Given the description of an element on the screen output the (x, y) to click on. 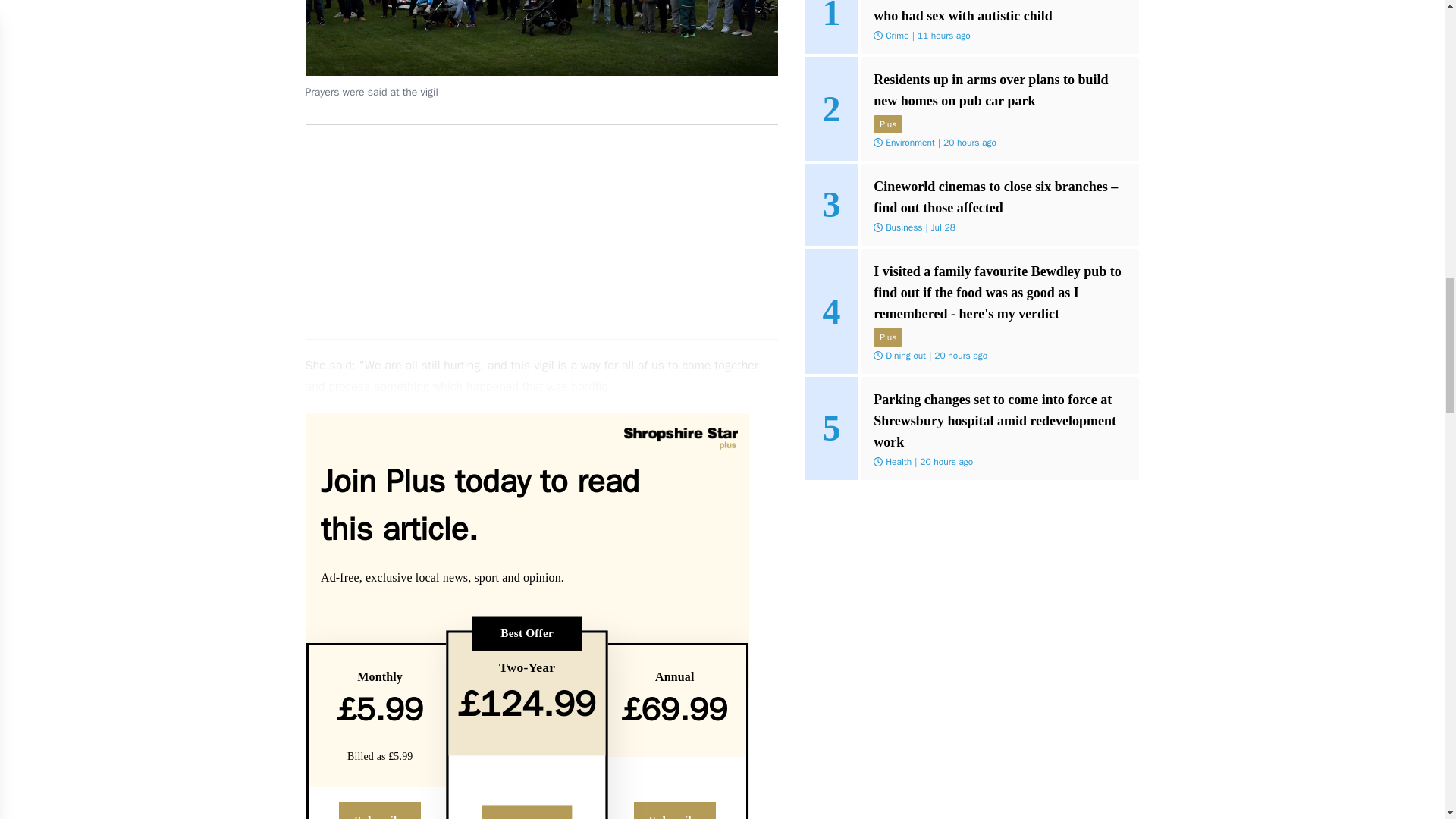
3rd party ad content (541, 231)
